Given the description of an element on the screen output the (x, y) to click on. 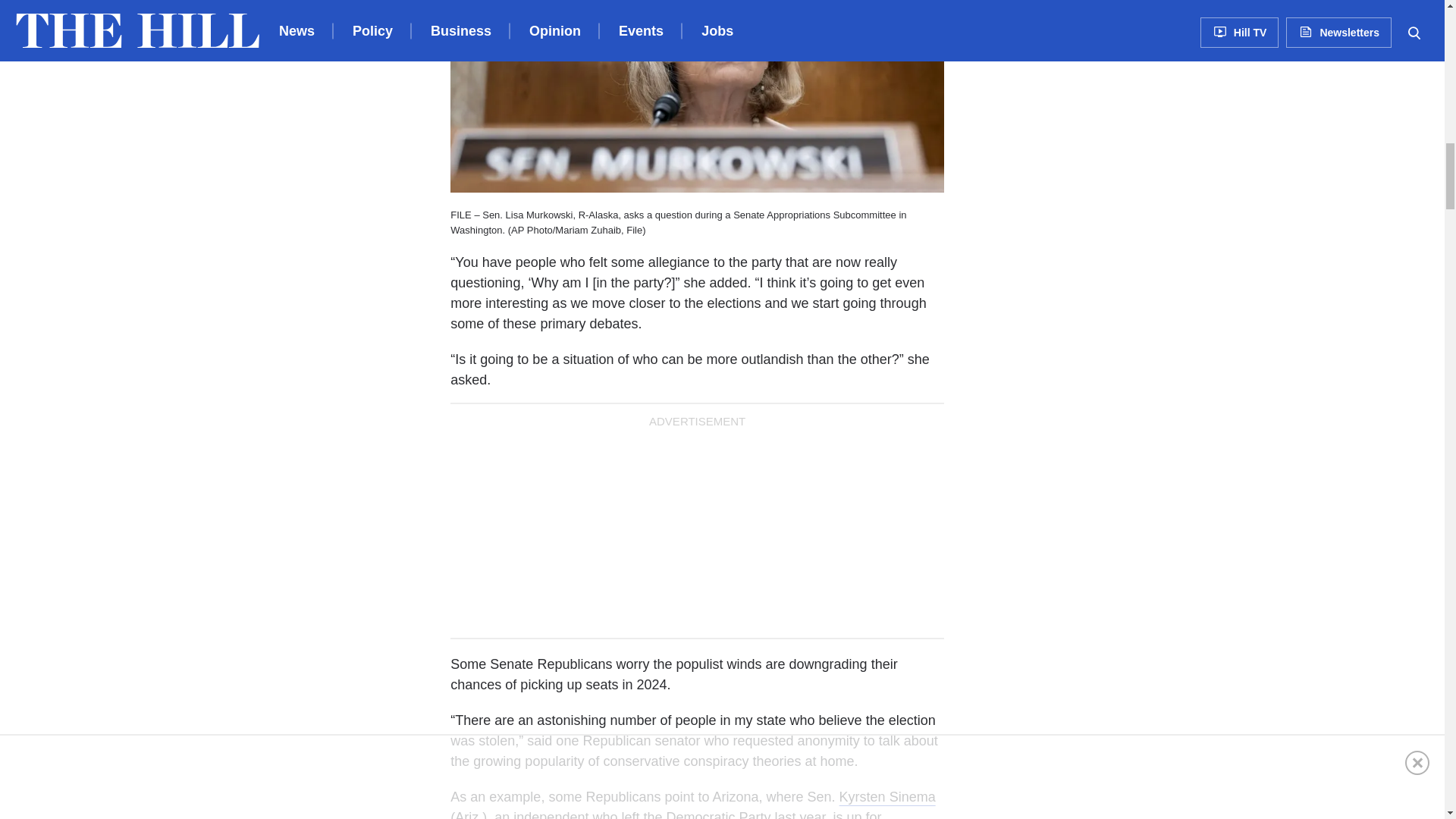
3rd party ad content (1093, 33)
3rd party ad content (696, 529)
3rd party ad content (1093, 306)
